Given the description of an element on the screen output the (x, y) to click on. 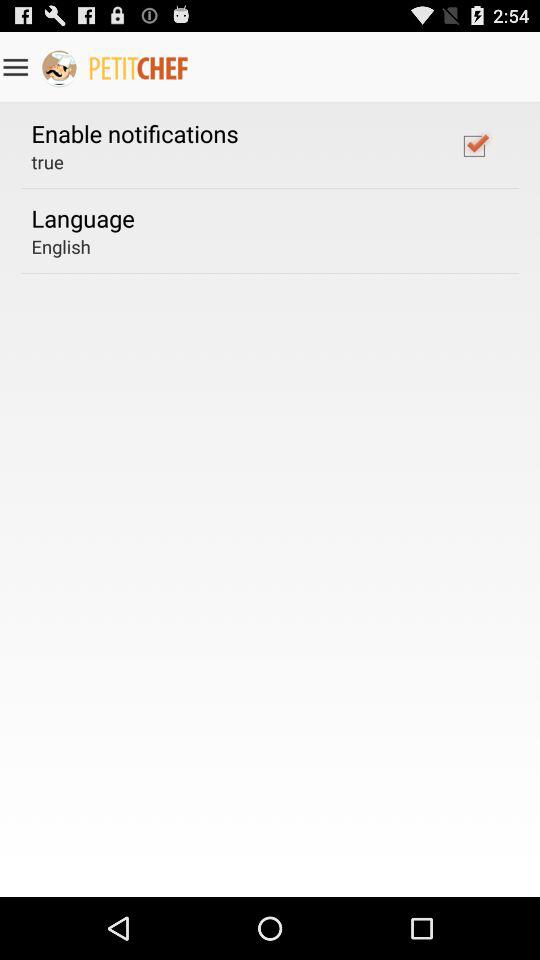
flip until true item (47, 161)
